Given the description of an element on the screen output the (x, y) to click on. 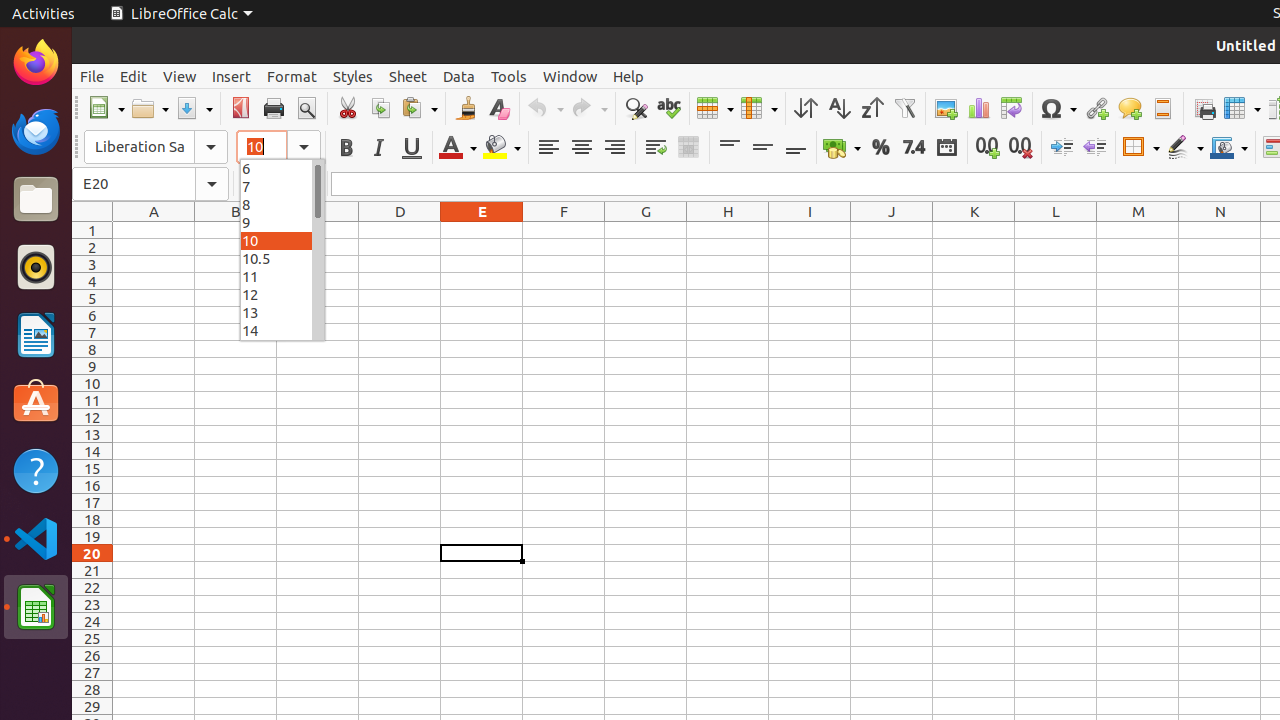
Paste Element type: push-button (419, 108)
LibreOffice Calc Element type: menu (181, 13)
LibreOffice Calc Element type: push-button (36, 607)
Align Left Element type: push-button (548, 147)
Borders (Shift to overwrite) Element type: push-button (1141, 147)
